Given the description of an element on the screen output the (x, y) to click on. 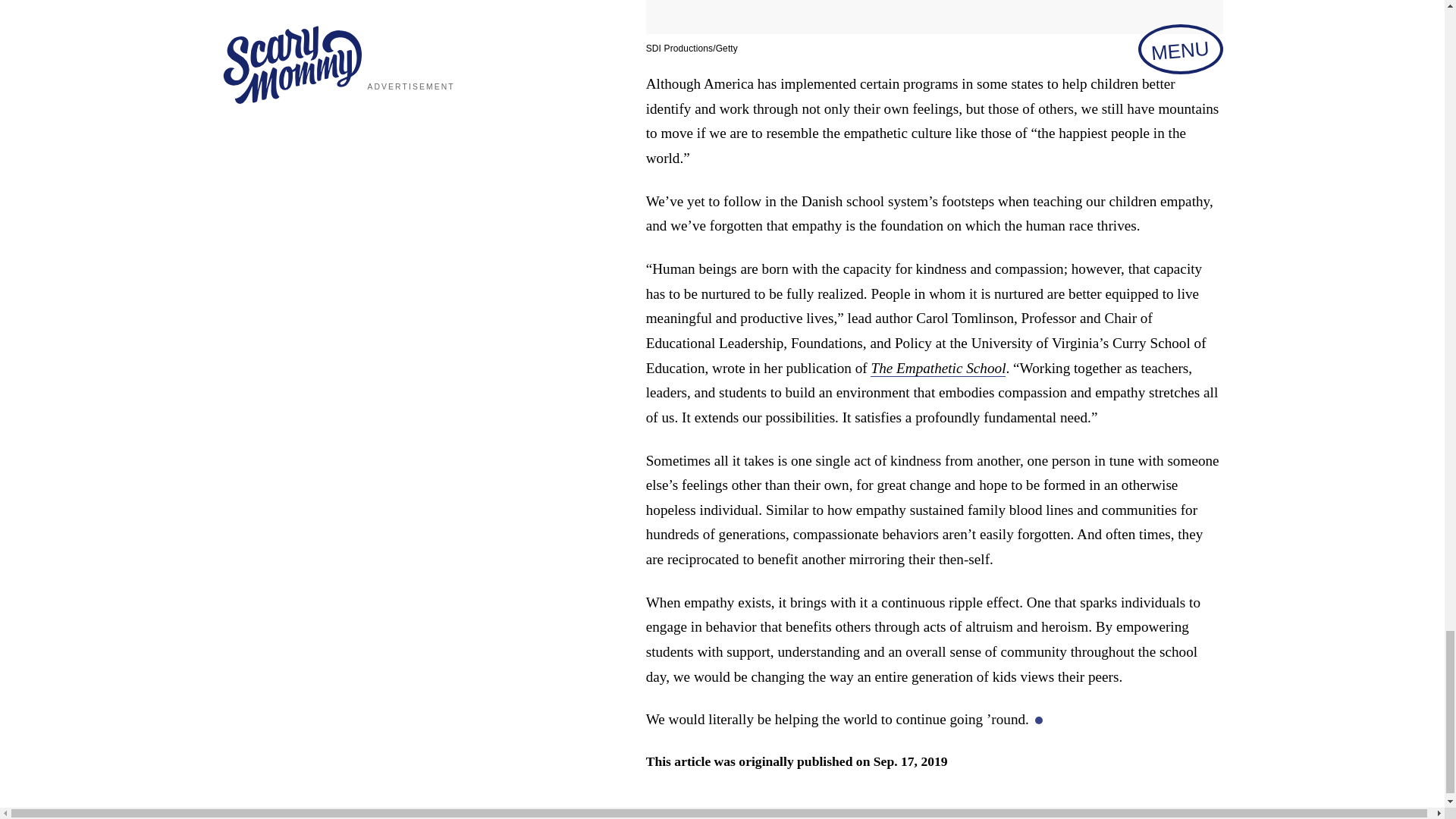
The Empathetic School (938, 368)
